Given the description of an element on the screen output the (x, y) to click on. 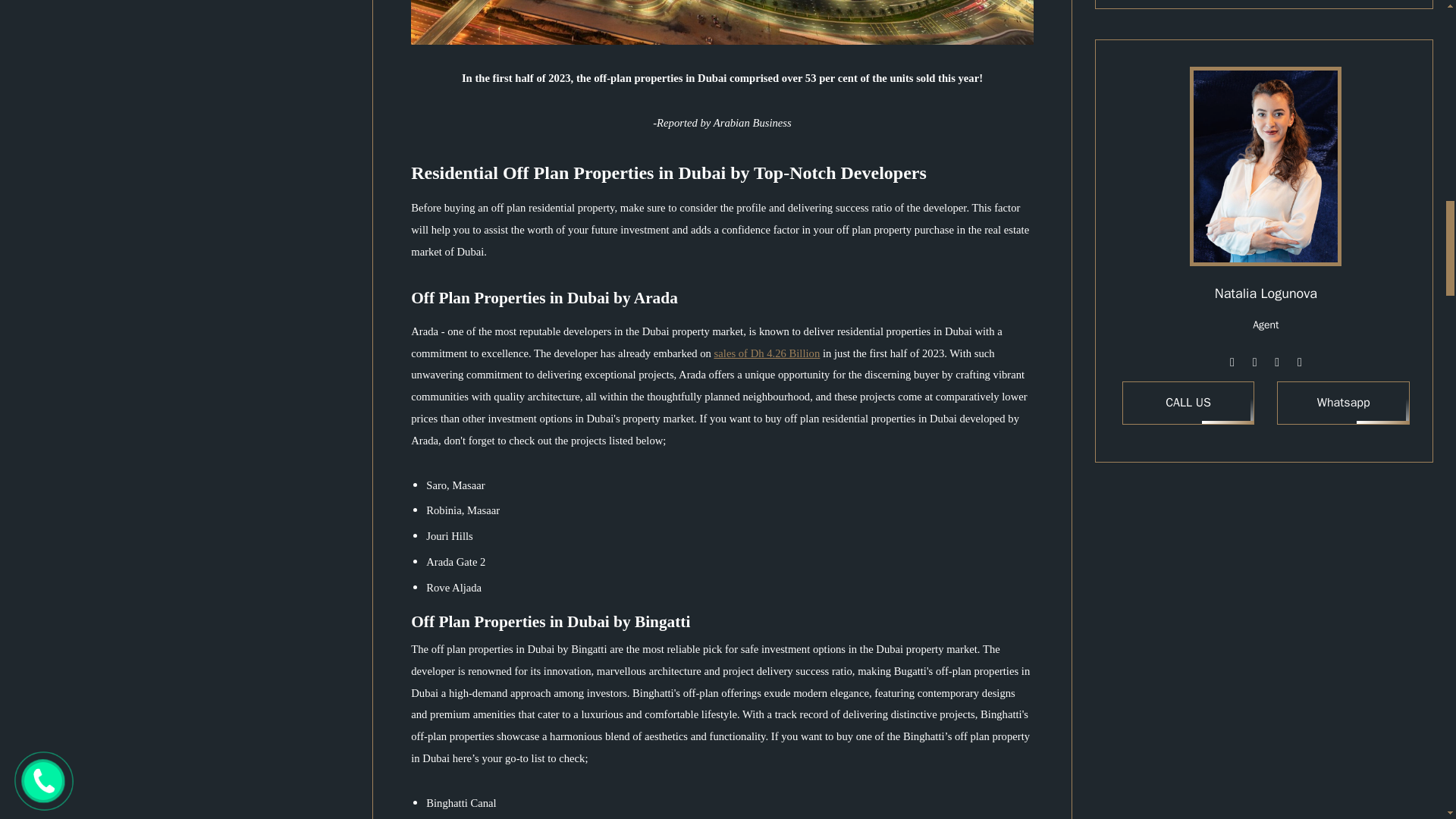
Twitter (1276, 362)
Facebook (1254, 362)
Instagram (1232, 362)
Linkedin (1299, 362)
